Given the description of an element on the screen output the (x, y) to click on. 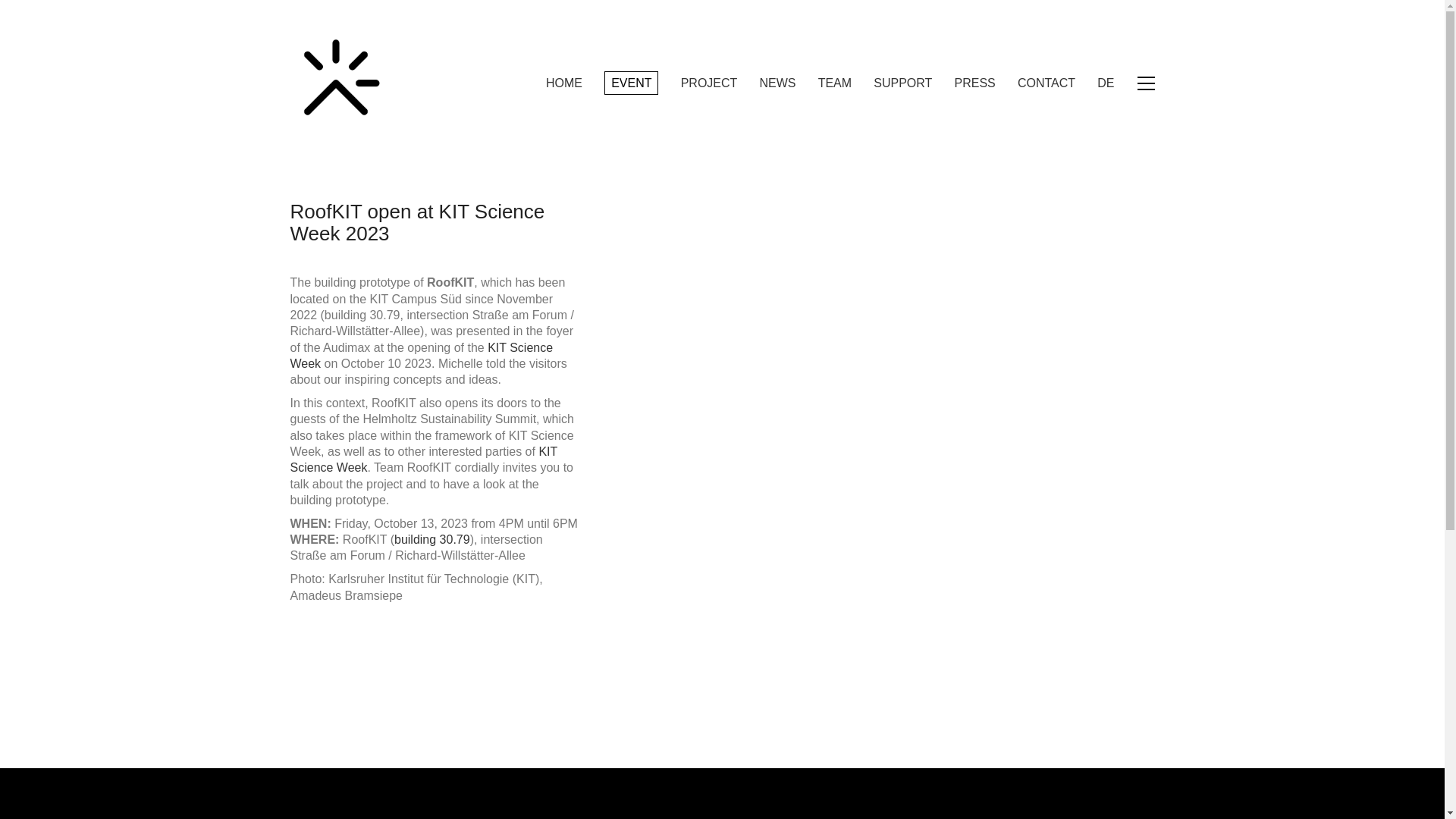
PROJECT (709, 82)
CONTACT (1046, 82)
KIT Science Week (422, 459)
DE (1105, 82)
building 30.79 (432, 539)
KIT Science Week (421, 355)
HOME (564, 82)
NEWS (778, 82)
SUPPORT (902, 82)
PRESS (975, 82)
